Given the description of an element on the screen output the (x, y) to click on. 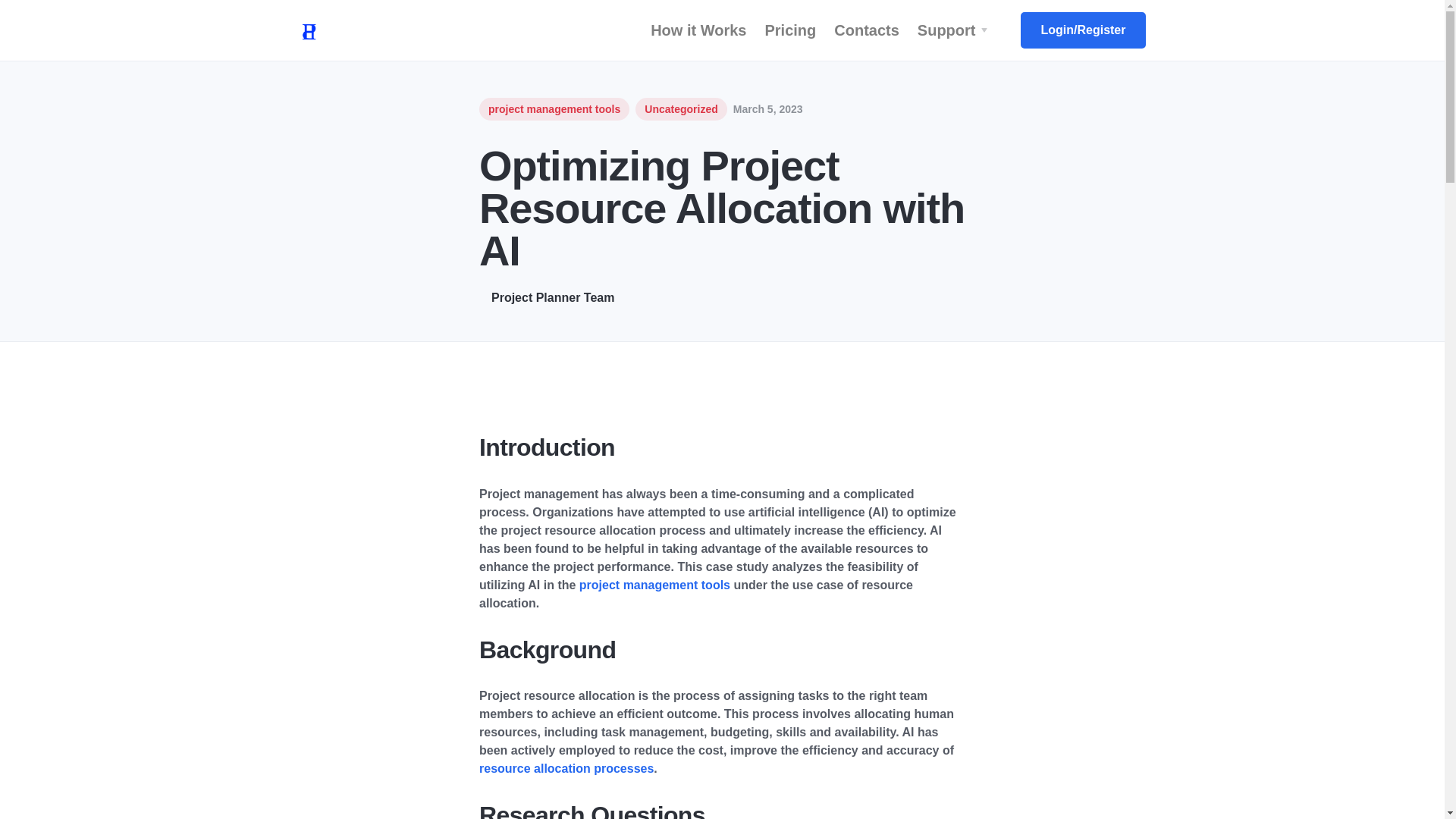
Contacts (866, 30)
Uncategorized (680, 108)
resource allocation processes (566, 768)
Project Planner Team (722, 297)
Pricing (790, 30)
Support (955, 30)
project management tools (654, 584)
Pricing (790, 30)
Contacts (866, 30)
How it Works (698, 30)
